Given the description of an element on the screen output the (x, y) to click on. 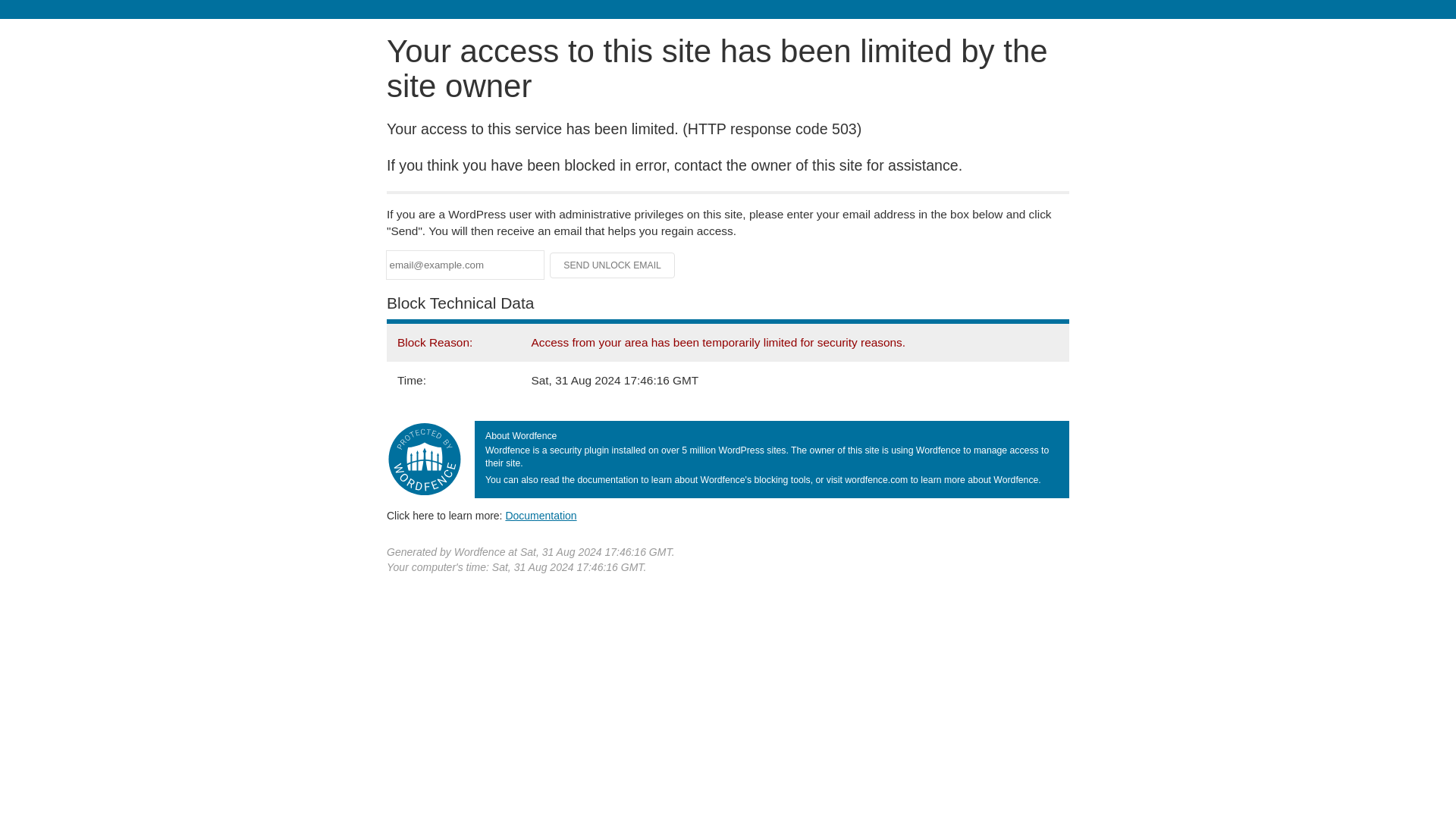
Send Unlock Email (612, 265)
Send Unlock Email (612, 265)
Documentation (540, 515)
